Given the description of an element on the screen output the (x, y) to click on. 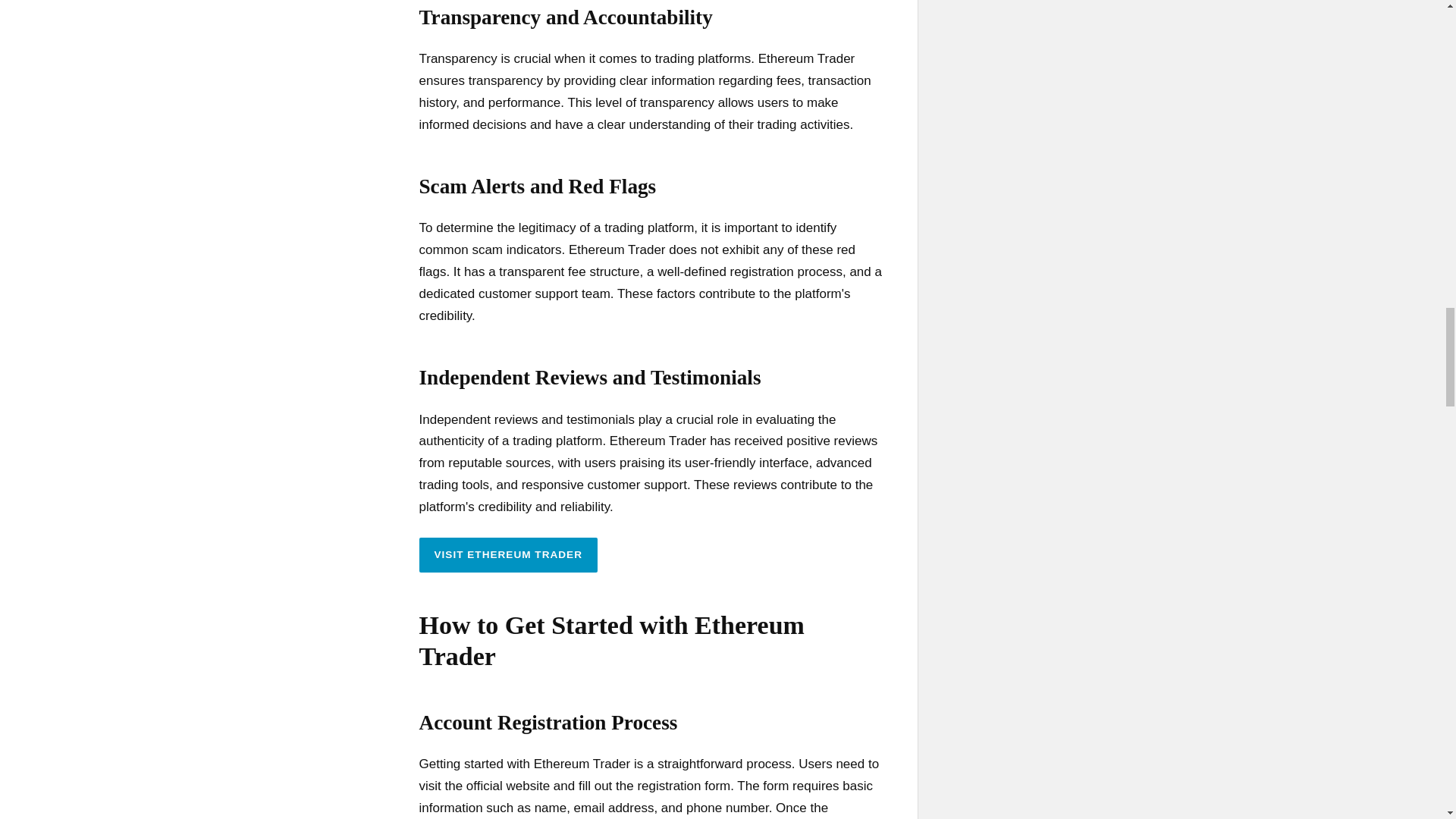
VISIT ETHEREUM TRADER (507, 554)
VISIT ETHEREUM TRADER (507, 554)
